Given the description of an element on the screen output the (x, y) to click on. 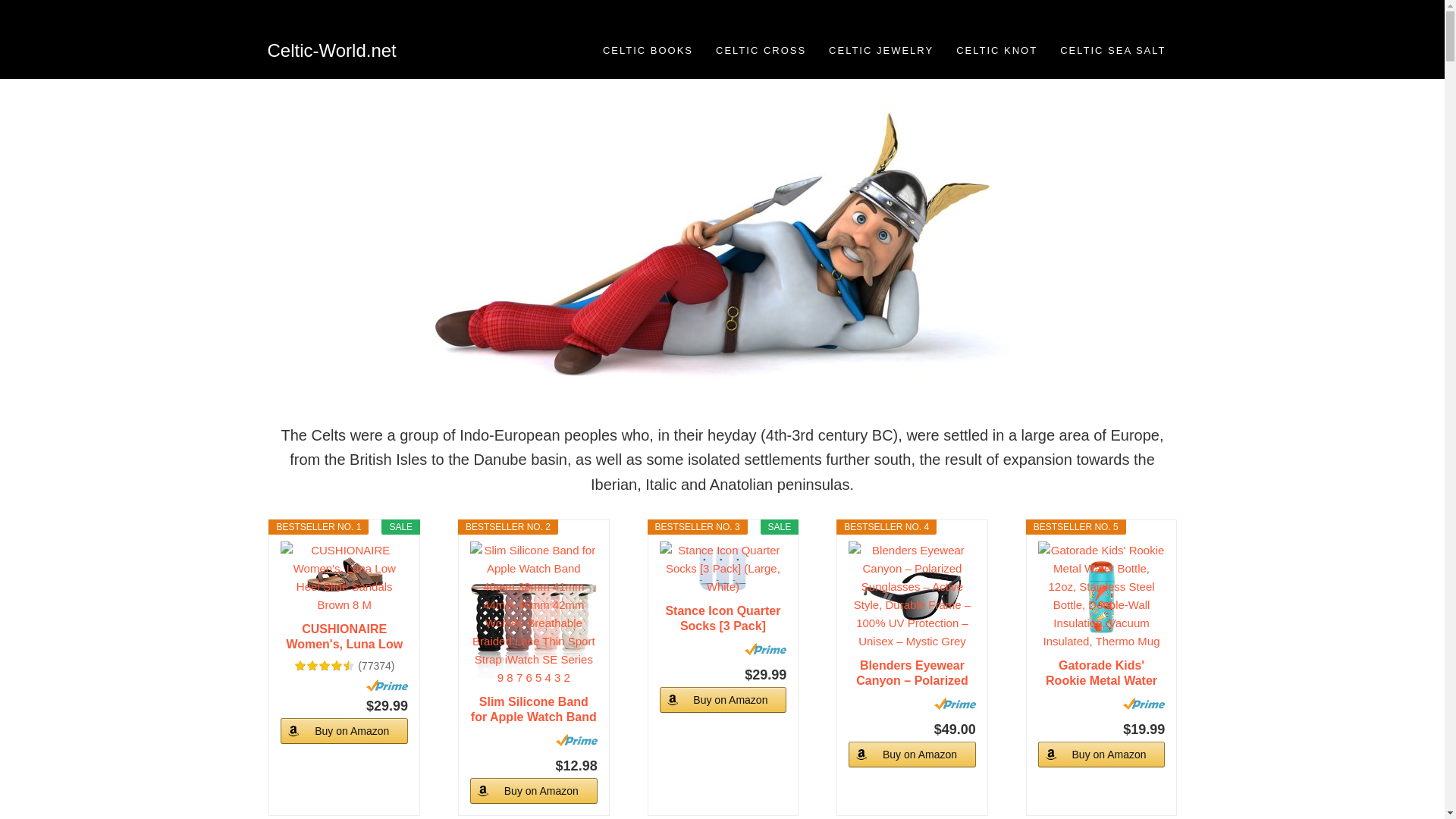
CELTIC KNOT (996, 50)
Amazon Prime (386, 685)
CELTIC CROSS (760, 50)
Buy on Amazon (344, 730)
Buy on Amazon (723, 699)
Buy on Amazon (911, 754)
CELTIC JEWELRY (880, 50)
Slim Silicone Band for Apple Watch Band 40mm 38mm... (533, 709)
Buy on Amazon (533, 790)
